Given the description of an element on the screen output the (x, y) to click on. 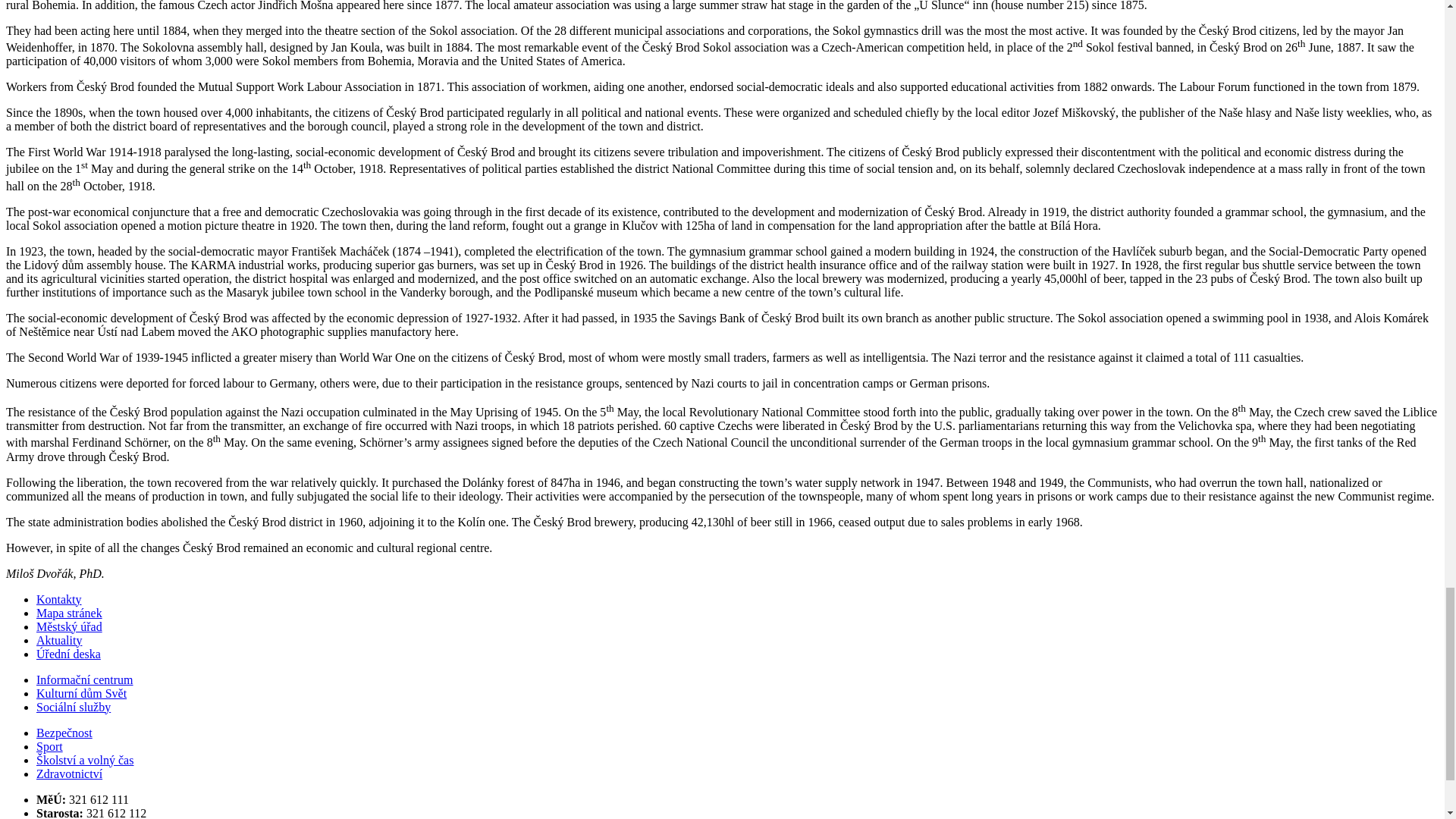
Kontakty (58, 599)
